Given the description of an element on the screen output the (x, y) to click on. 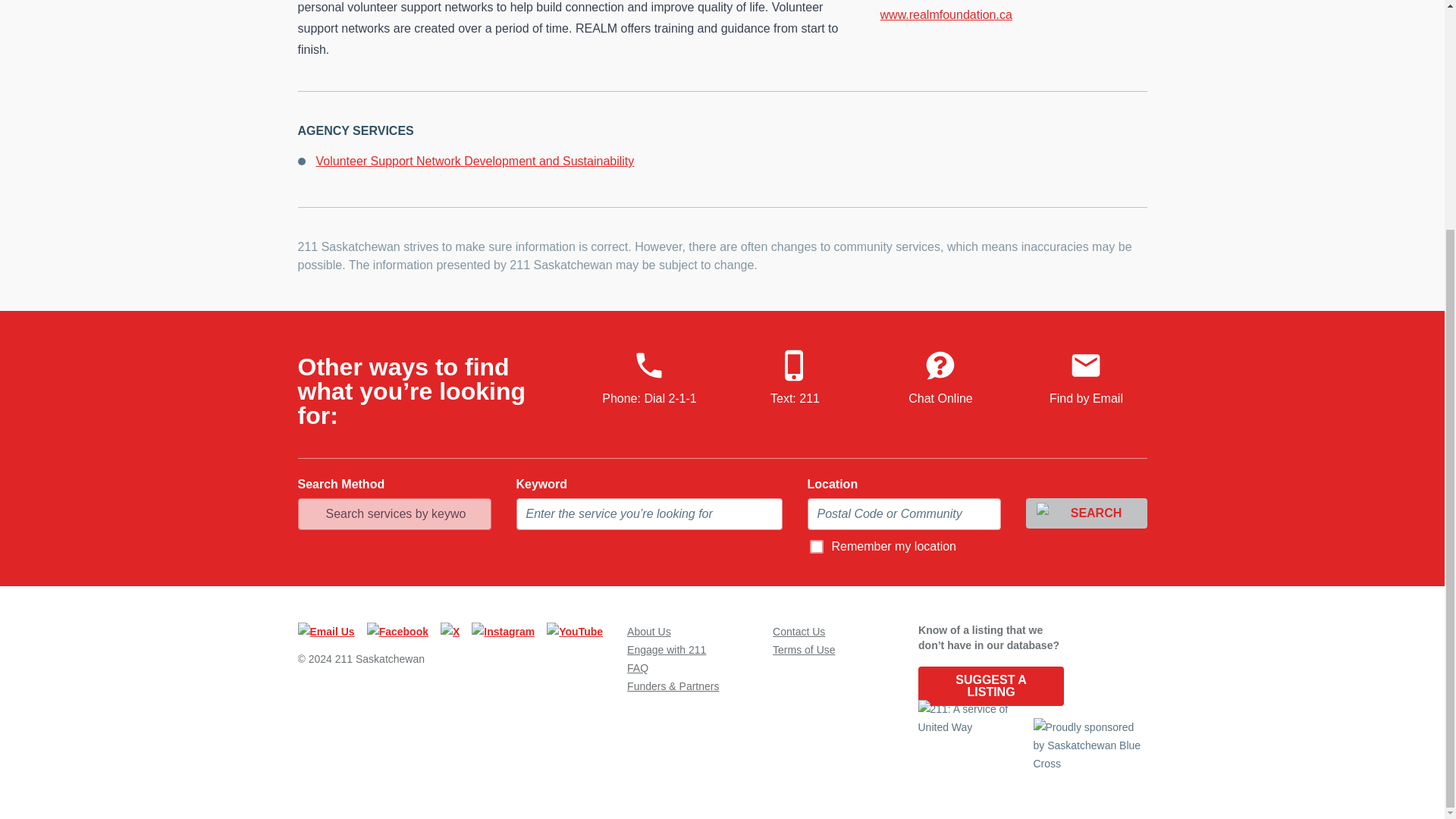
Phone: Dial 2-1-1 (649, 377)
FAQ (637, 667)
Chat Online (940, 377)
Text: 211 (794, 377)
SUGGEST A LISTING (991, 685)
Terms of Use (803, 649)
www.realmfoundation.ca (1013, 14)
SEARCH (1086, 512)
yes (816, 546)
Contact Us (799, 631)
Volunteer Support Network Development and Sustainability (474, 160)
About Us (649, 631)
Find by Email (1086, 377)
Engage with 211 (666, 649)
